Given the description of an element on the screen output the (x, y) to click on. 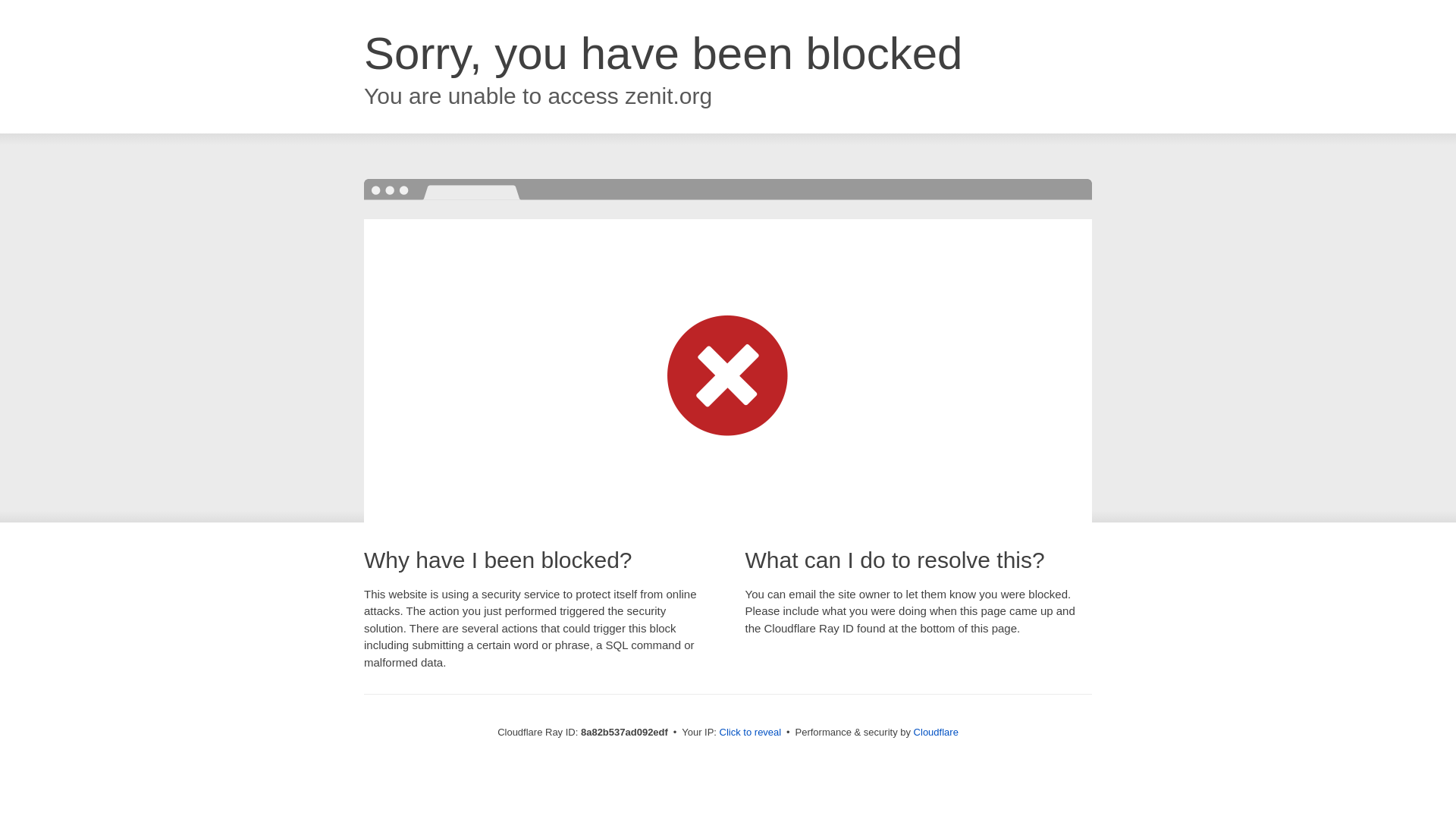
Cloudflare (936, 731)
Click to reveal (750, 732)
